Given the description of an element on the screen output the (x, y) to click on. 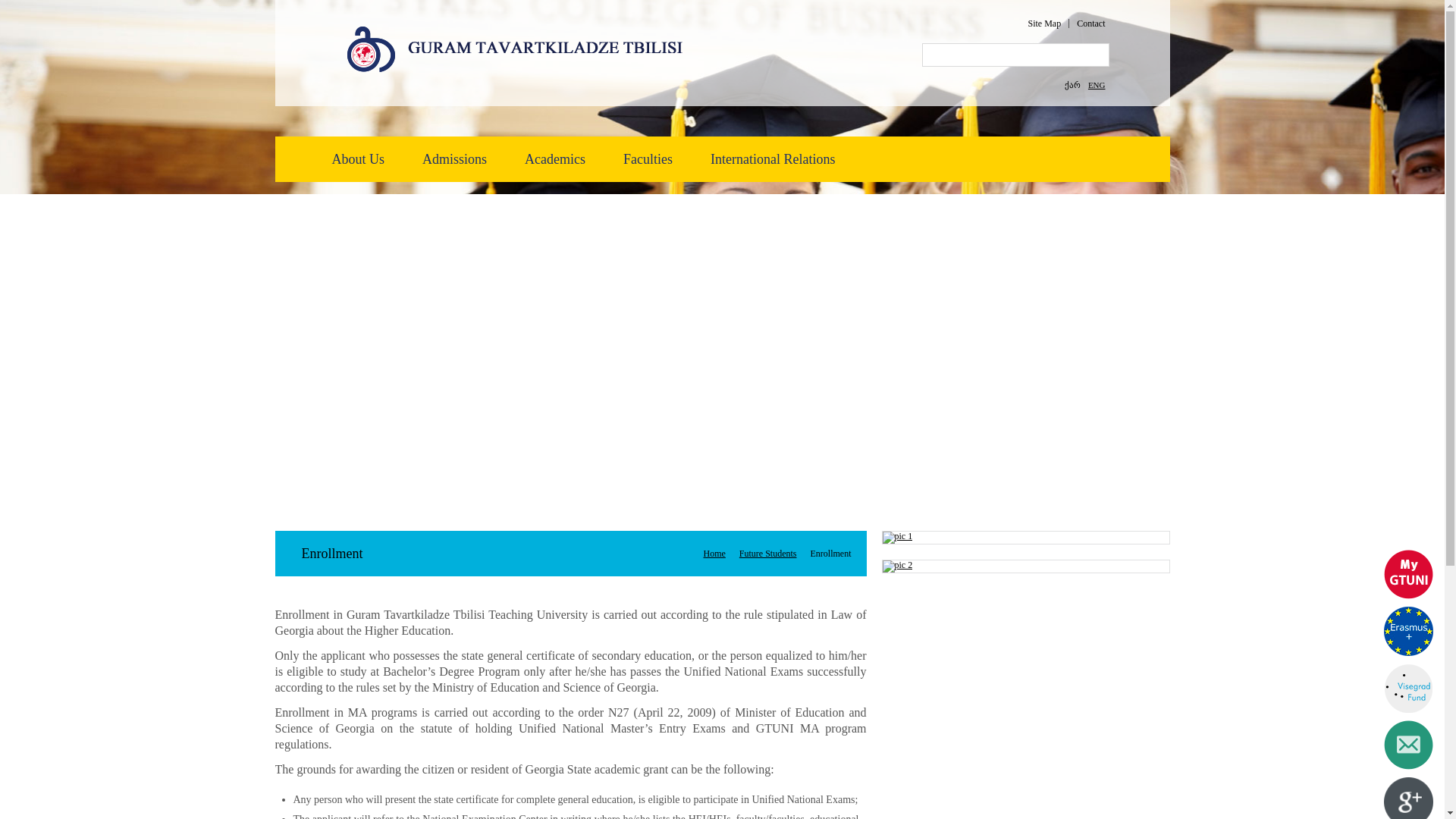
ENG (1096, 84)
Admissions (454, 158)
Site Map (1044, 23)
About Us (358, 158)
Academics (554, 158)
pic 1 (897, 537)
pic 2 (897, 566)
Contact (1091, 23)
